Given the description of an element on the screen output the (x, y) to click on. 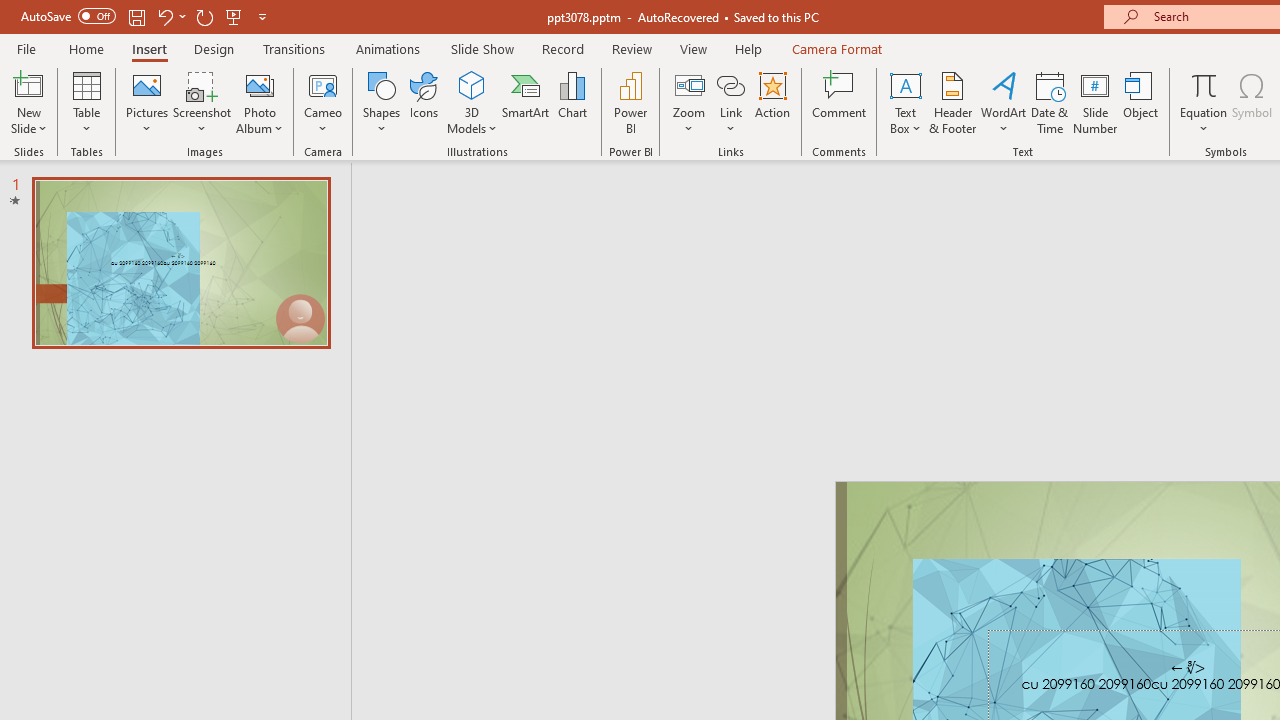
Draw Horizontal Text Box (905, 84)
Action (772, 102)
Comment (839, 102)
